Given the description of an element on the screen output the (x, y) to click on. 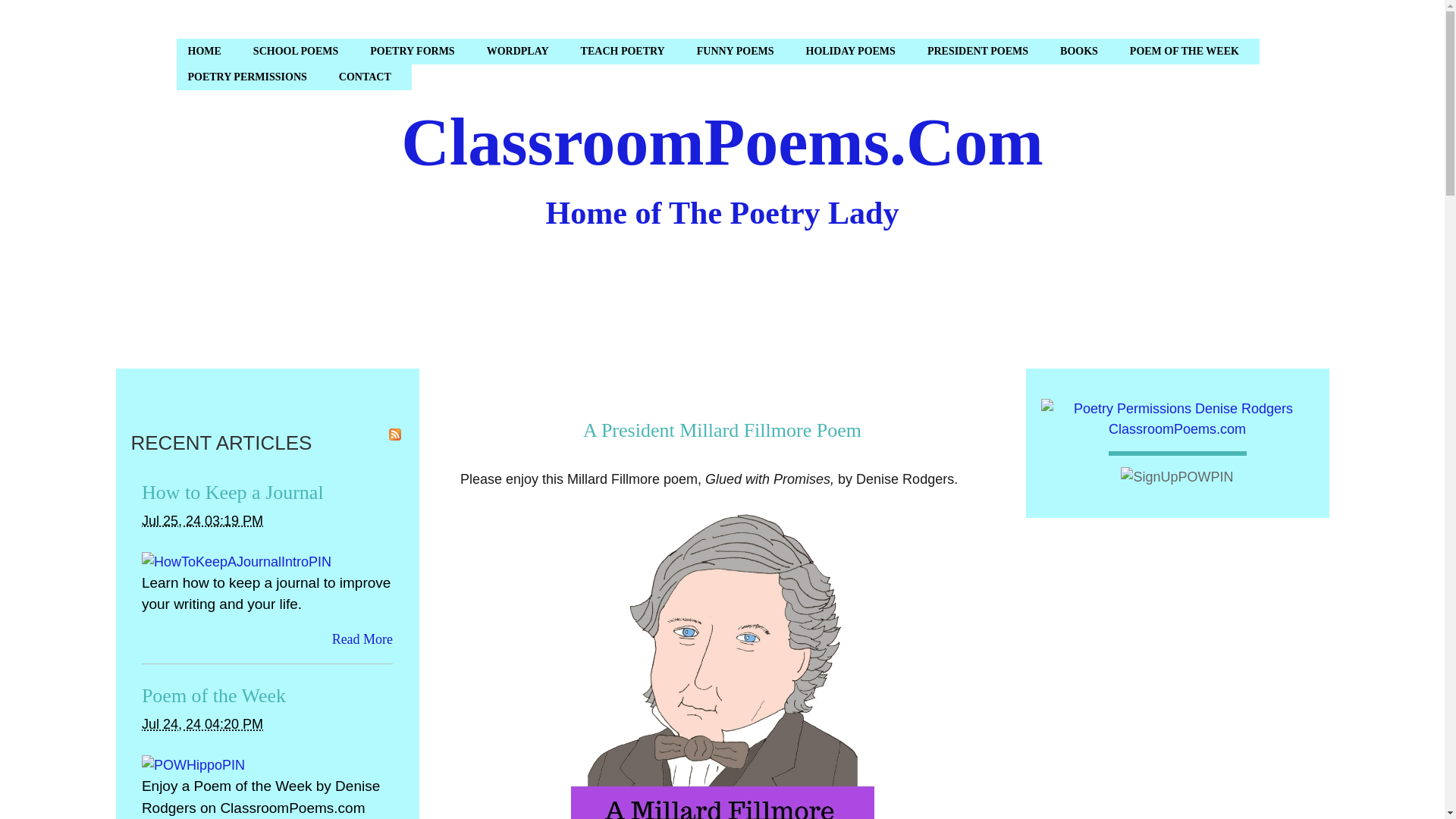
HOME (208, 51)
2024-07-25T15:19:04-0400 (202, 520)
SignUpPOWPIN (1177, 476)
ClassroomPoems.Com (721, 142)
Poetry Permissions Denise Rodgers ClassroomPoems.com (1177, 418)
2024-07-24T16:20:00-0400 (202, 724)
Go to Poetry Permissions and Terms of Use (1177, 428)
